Given the description of an element on the screen output the (x, y) to click on. 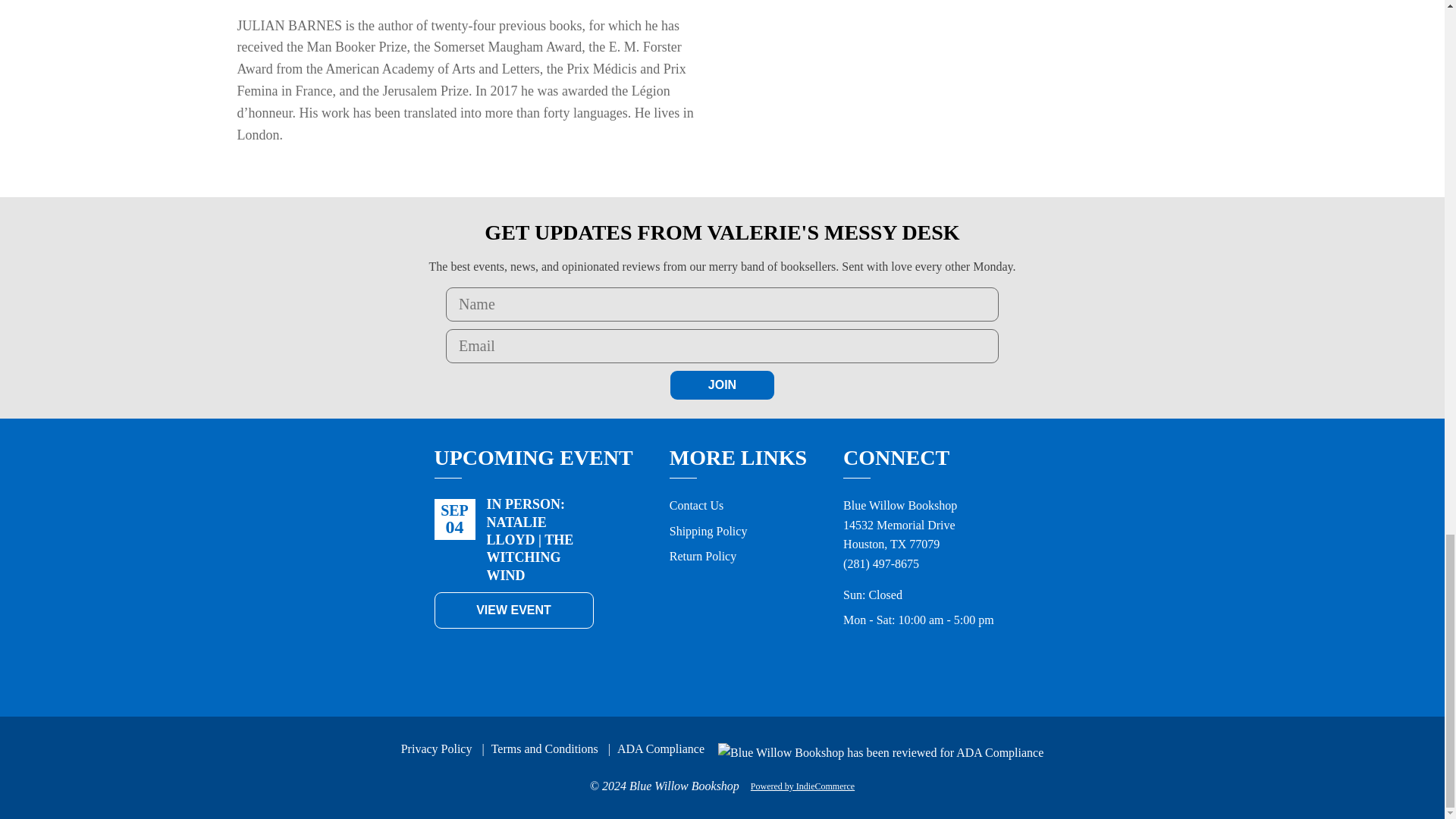
Connect with X (852, 663)
Connect with Youtube Channel (985, 663)
Join (721, 385)
Connect with Instagram (919, 663)
Connect with Tik Tok (951, 663)
Connect with Facebook (885, 663)
